Given the description of an element on the screen output the (x, y) to click on. 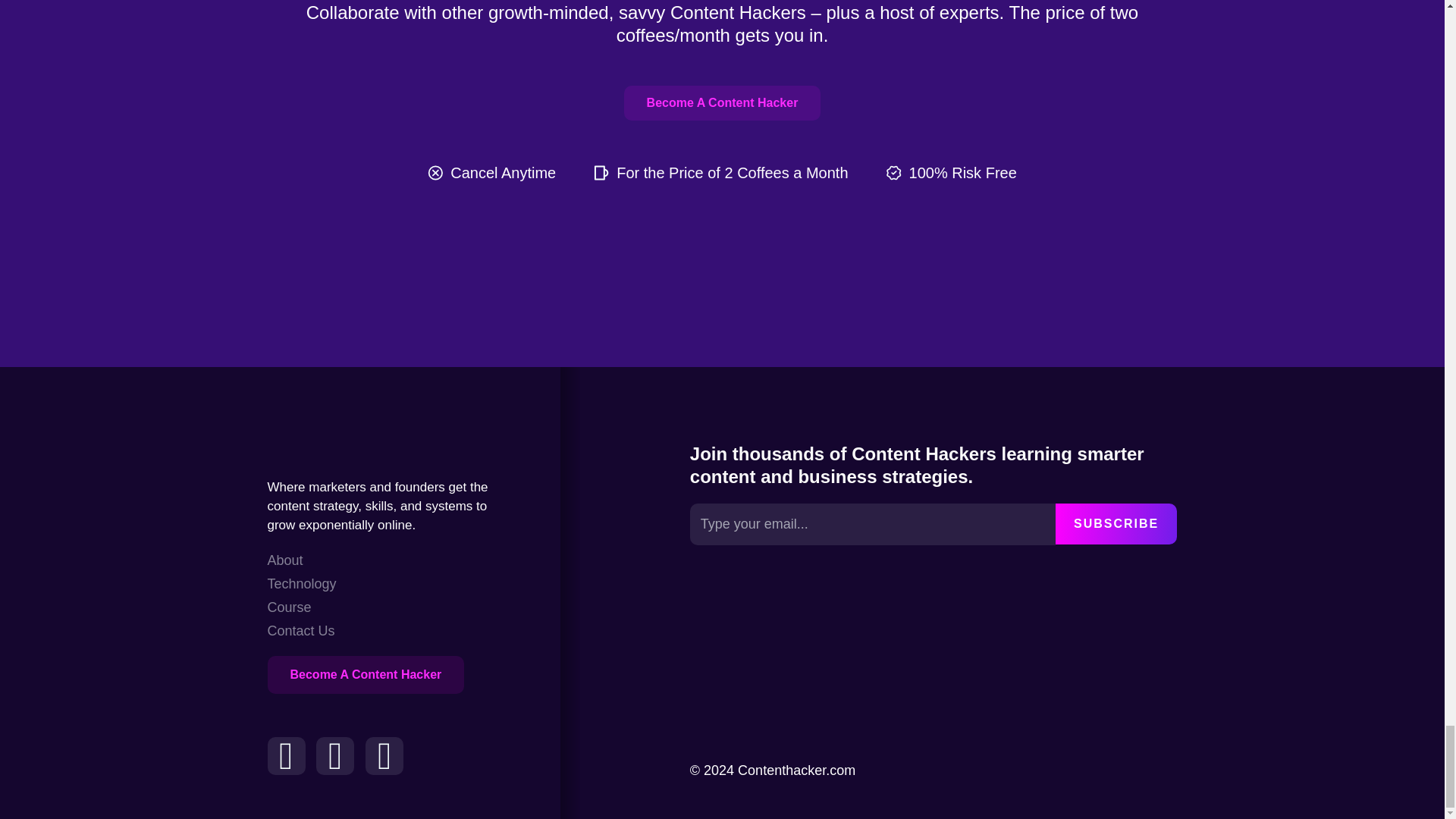
Contact Us (301, 630)
Technology (301, 583)
Course (301, 607)
About (301, 560)
Become A Content Hacker (365, 674)
Become A Content Hacker (722, 102)
